Given the description of an element on the screen output the (x, y) to click on. 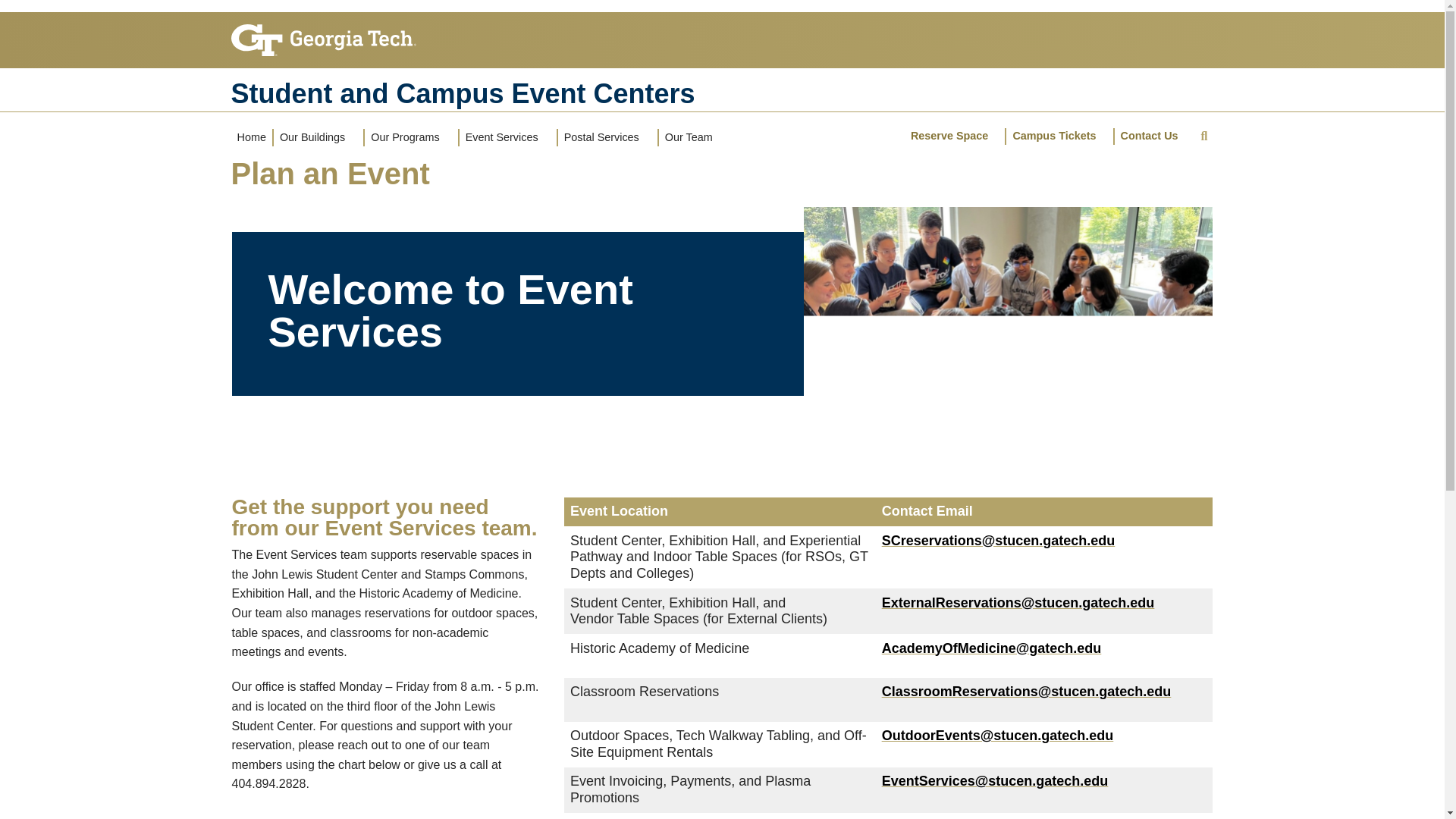
Home (250, 136)
Contact Us (1155, 135)
Campus Tickets (1059, 135)
Reserve Space (954, 135)
Georgia Institute of Technology (322, 33)
search (1204, 137)
Student and Campus Event Centers (721, 93)
